Given the description of an element on the screen output the (x, y) to click on. 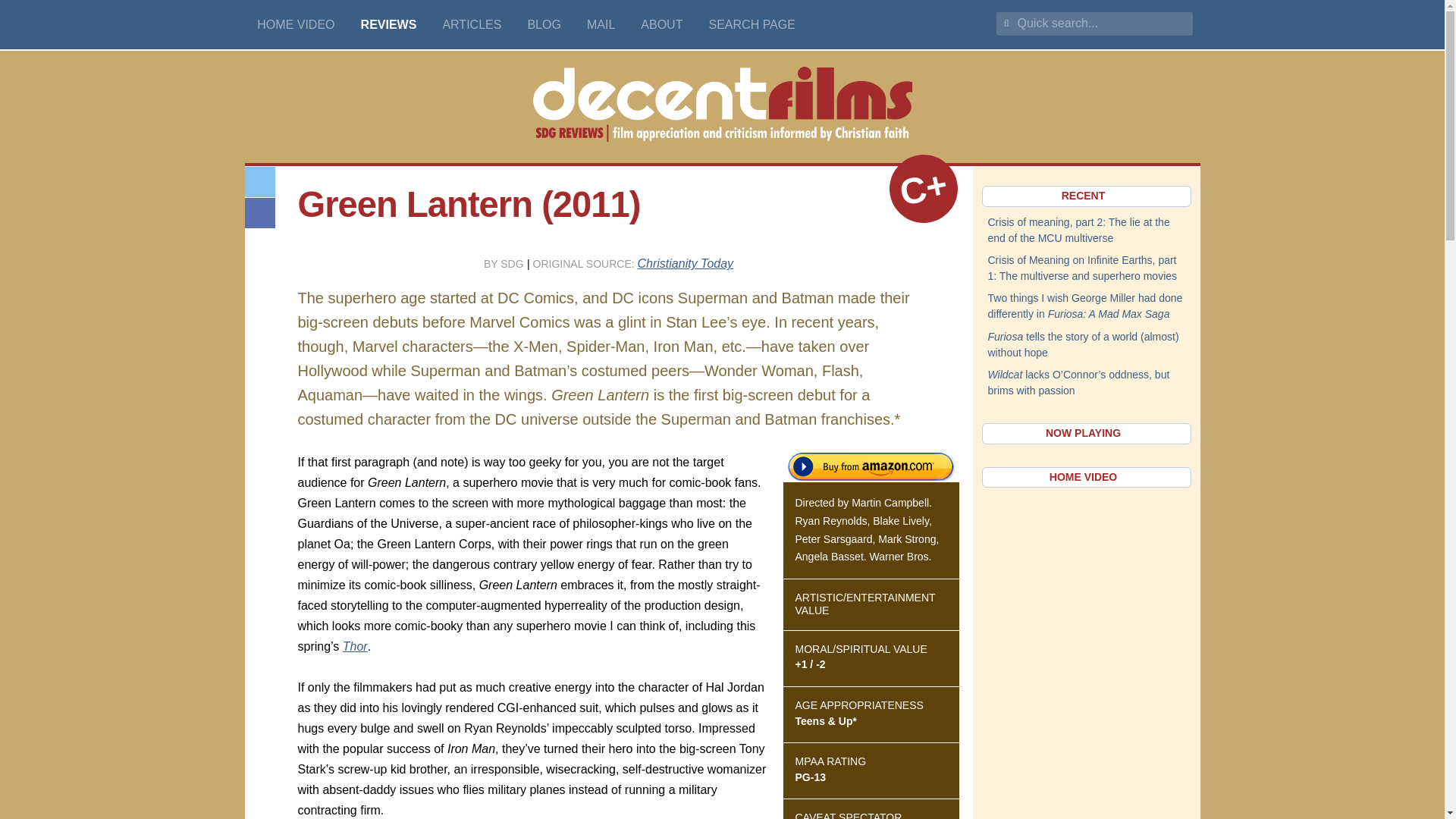
ARTICLES (472, 24)
Thor (355, 645)
HOME VIDEO (1086, 477)
MAIL (600, 24)
HOME VIDEO (295, 24)
Share on Facebook (259, 213)
Share on Twitter (259, 182)
REVIEWS (388, 24)
RECENT (1086, 196)
Christianity Today (685, 263)
ABOUT (662, 24)
NOW PLAYING (1086, 433)
SEARCH PAGE (751, 24)
